Given the description of an element on the screen output the (x, y) to click on. 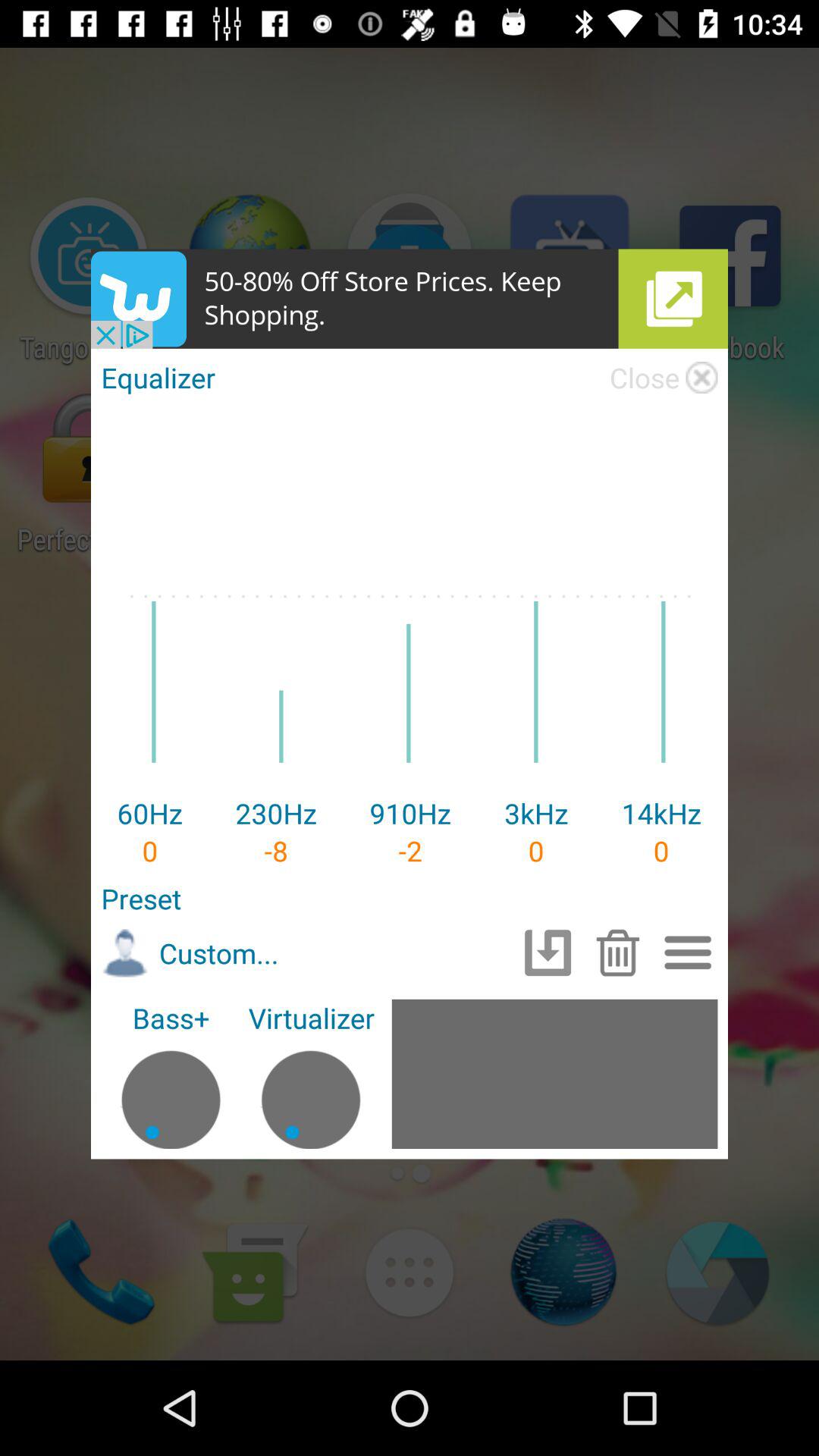
click on the image to the left of custom  text (125, 953)
select the reset icon on left side of empty icon (547, 952)
click on icon beside close (702, 377)
select the circle below the virtualizer (311, 1092)
